Given the description of an element on the screen output the (x, y) to click on. 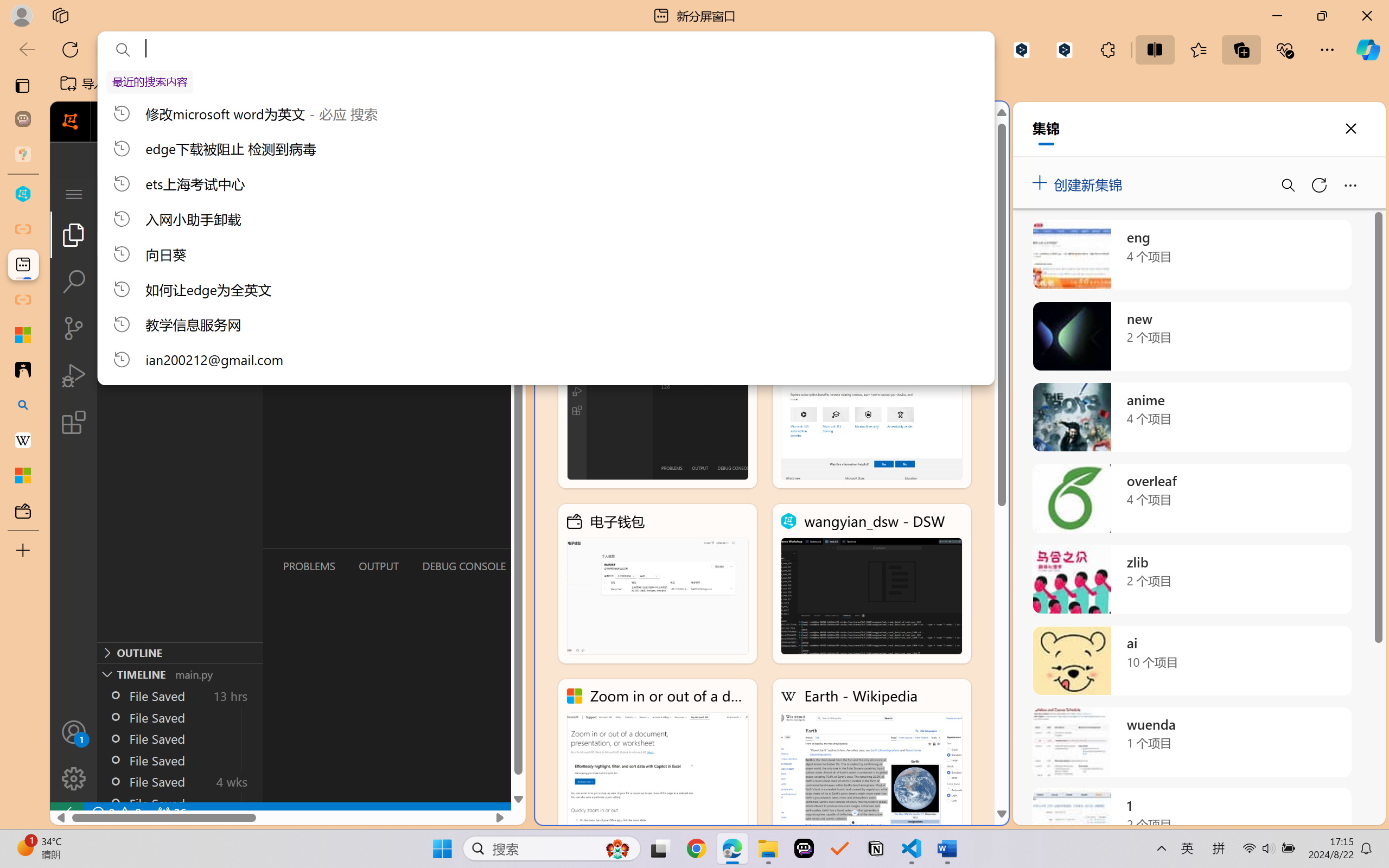
Close (Ctrl+F4) (512, 194)
Application Menu (73, 194)
Debug Console (Ctrl+Shift+Y) (463, 565)
Timeline Section (179, 673)
Wikipedia, the free encyclopedia (236, 83)
